Given the description of an element on the screen output the (x, y) to click on. 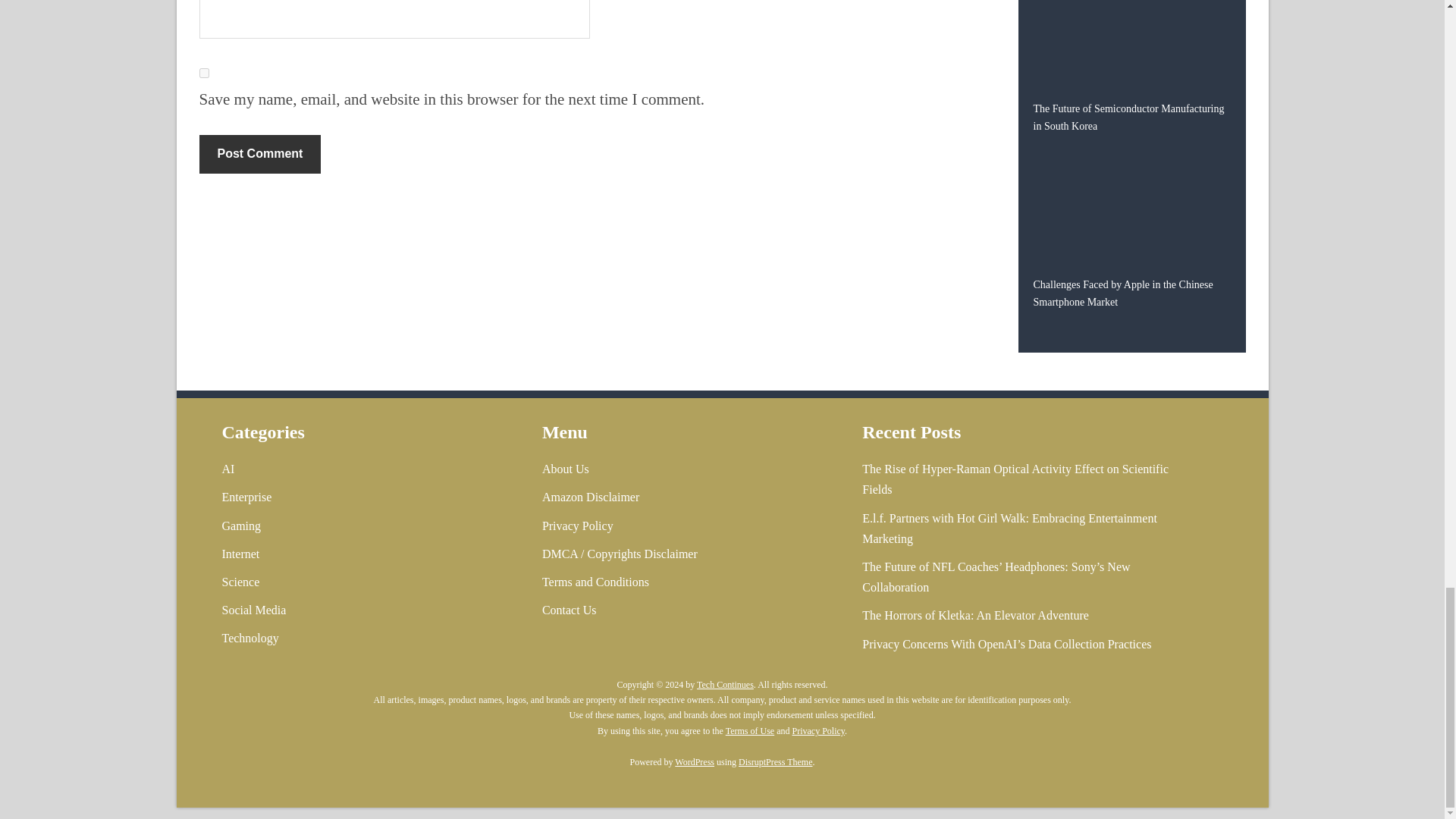
Post Comment (259, 153)
yes (203, 72)
